Given the description of an element on the screen output the (x, y) to click on. 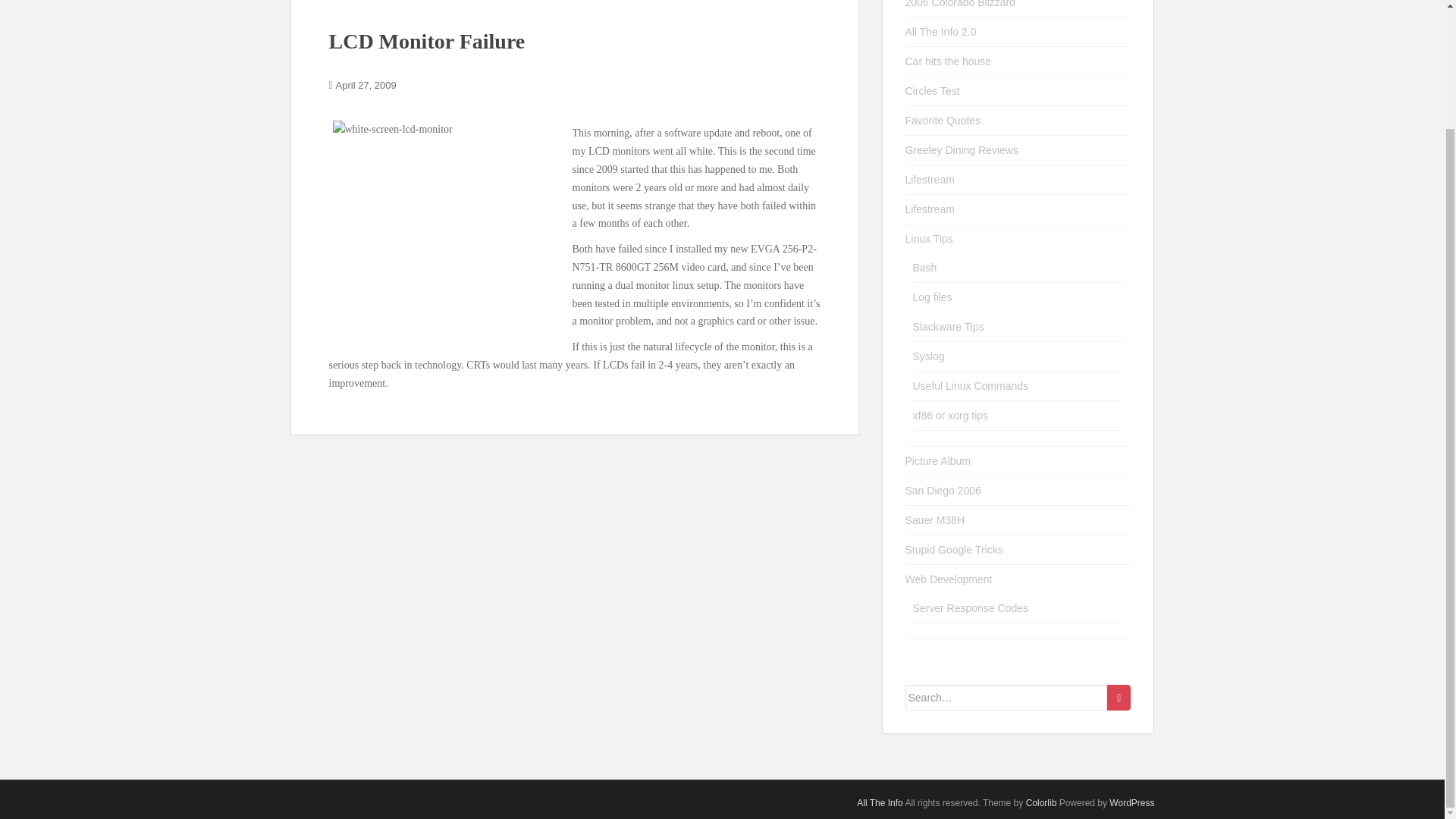
Search (1118, 697)
Syslog (928, 356)
Picture Album (938, 460)
xf86 or xorg tips (950, 415)
April 27, 2009 (366, 84)
Slackware Tips (948, 326)
Linux Tips (929, 238)
Useful Linux Commands (970, 386)
Stupid Google Tricks (954, 549)
WordPress (1131, 802)
All The Info (879, 802)
Server Response Codes (970, 607)
white-screen-lcd-monitor (442, 230)
Circles Test (932, 91)
Search for: (1006, 697)
